Given the description of an element on the screen output the (x, y) to click on. 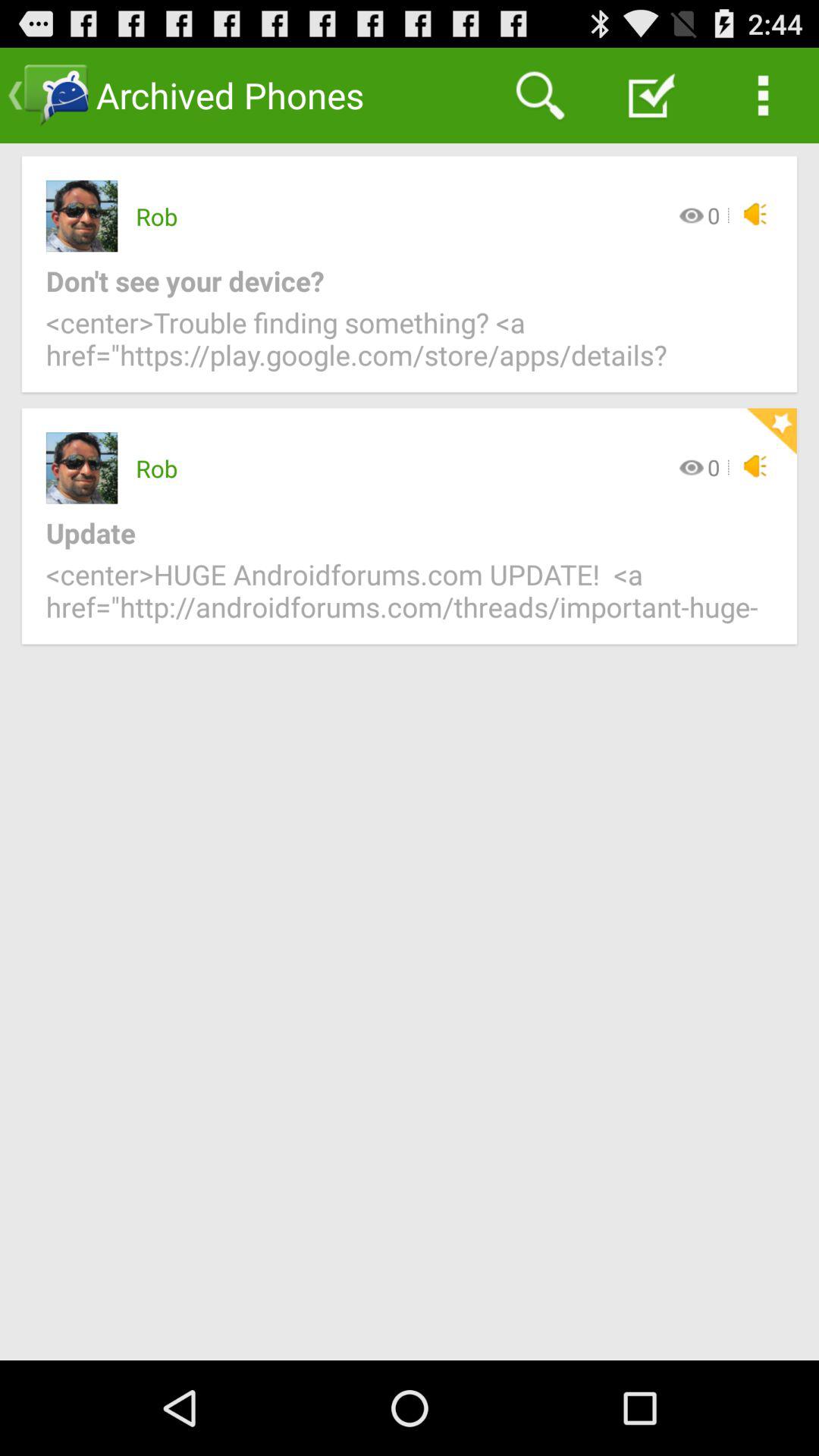
scroll until don t see icon (397, 280)
